Given the description of an element on the screen output the (x, y) to click on. 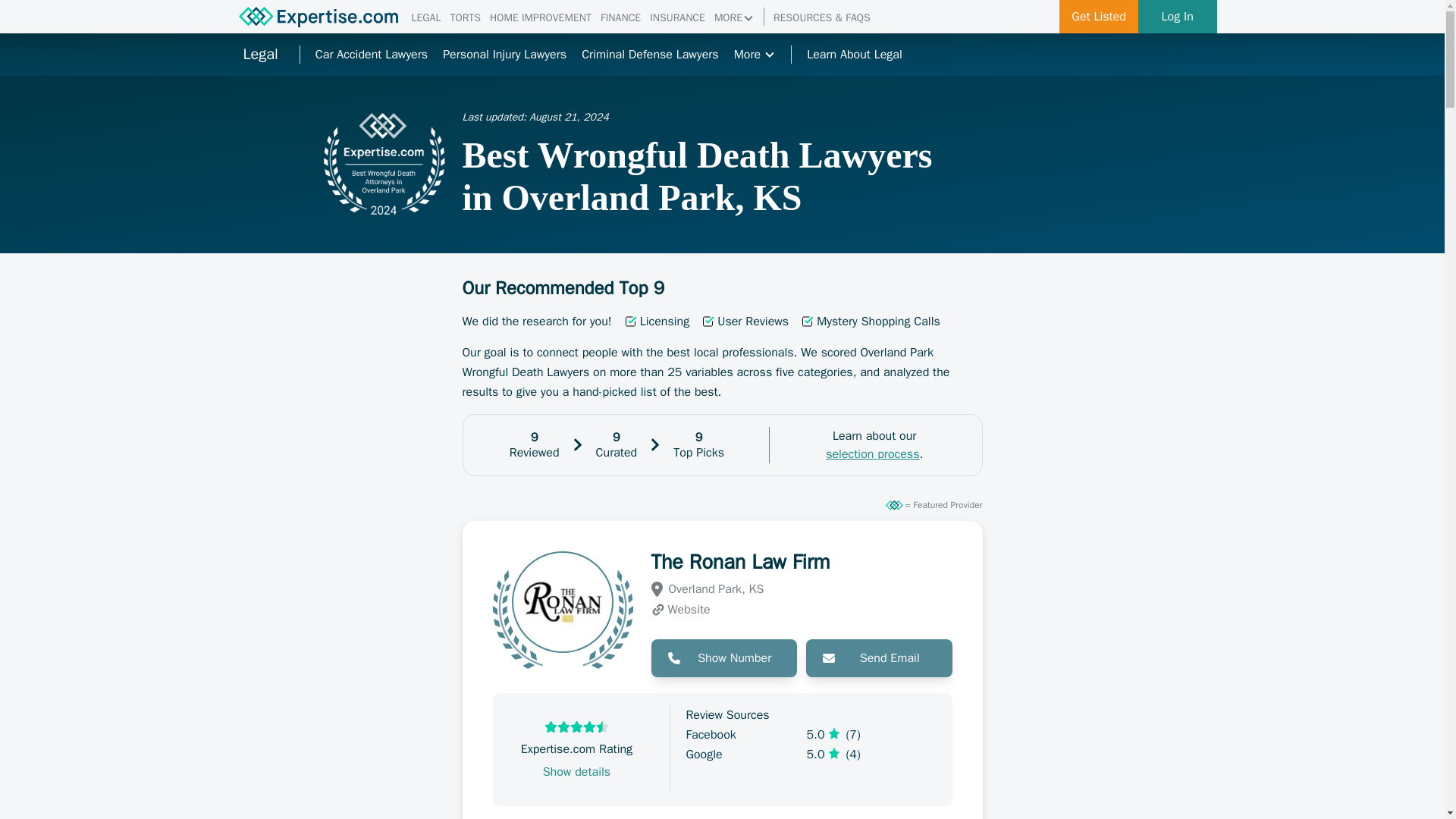
INSURANCE (676, 17)
MORE (734, 17)
Car Accident Lawyers (371, 54)
Legal (259, 53)
Get Listed (1098, 16)
LEGAL (425, 17)
More (754, 54)
Log In (1177, 16)
HOME IMPROVEMENT (540, 17)
Criminal Defense Lawyers (649, 54)
